Given the description of an element on the screen output the (x, y) to click on. 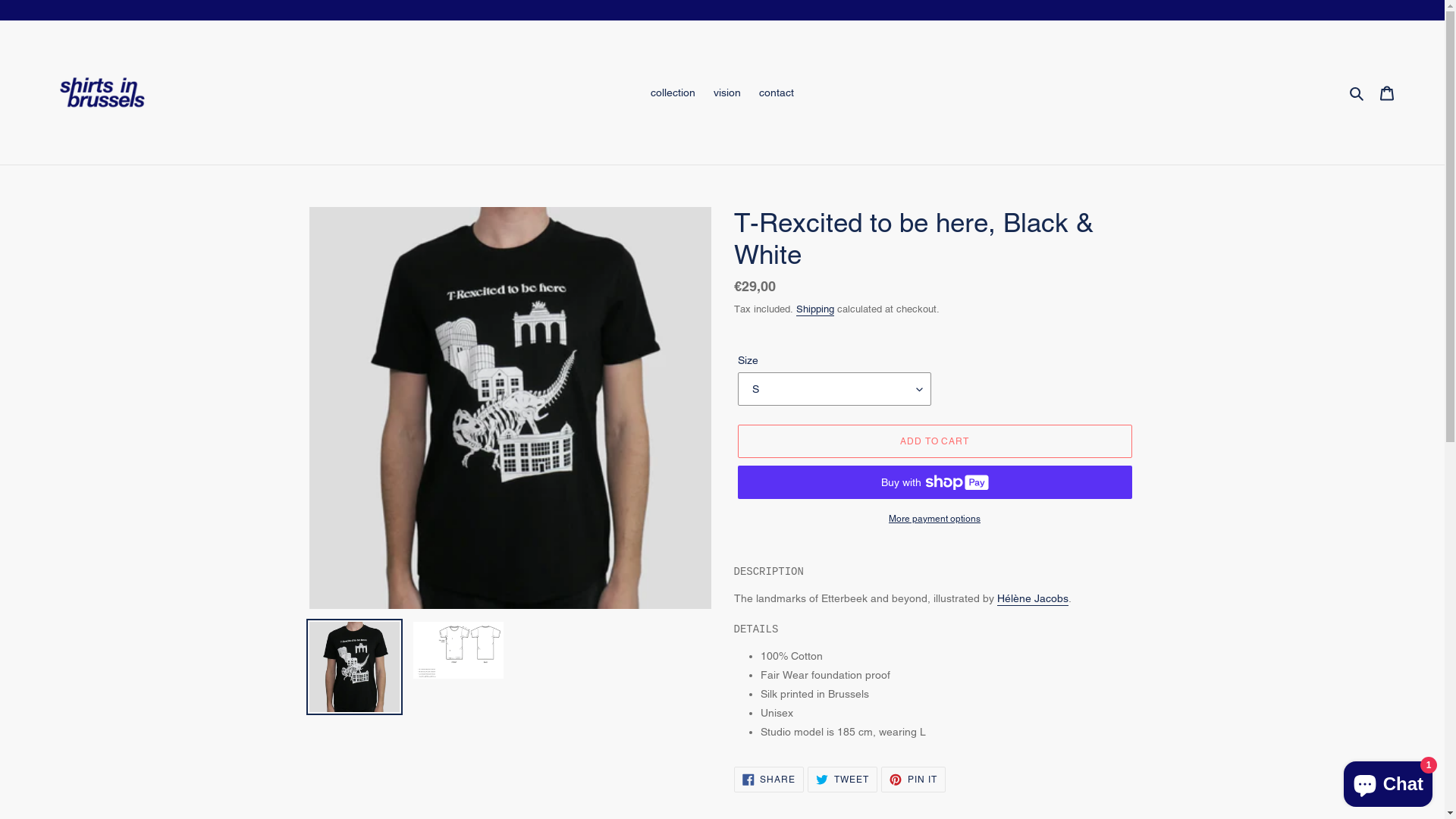
ADD TO CART Element type: text (934, 441)
vision Element type: text (727, 91)
Shopify online store chat Element type: hover (1388, 780)
TWEET
TWEET ON TWITTER Element type: text (842, 779)
Shipping Element type: text (815, 309)
contact Element type: text (776, 91)
Cart Element type: text (1386, 91)
Search Element type: text (1357, 91)
PIN IT
PIN ON PINTEREST Element type: text (913, 779)
SHARE
SHARE ON FACEBOOK Element type: text (769, 779)
collection Element type: text (672, 91)
More payment options Element type: text (934, 518)
